Given the description of an element on the screen output the (x, y) to click on. 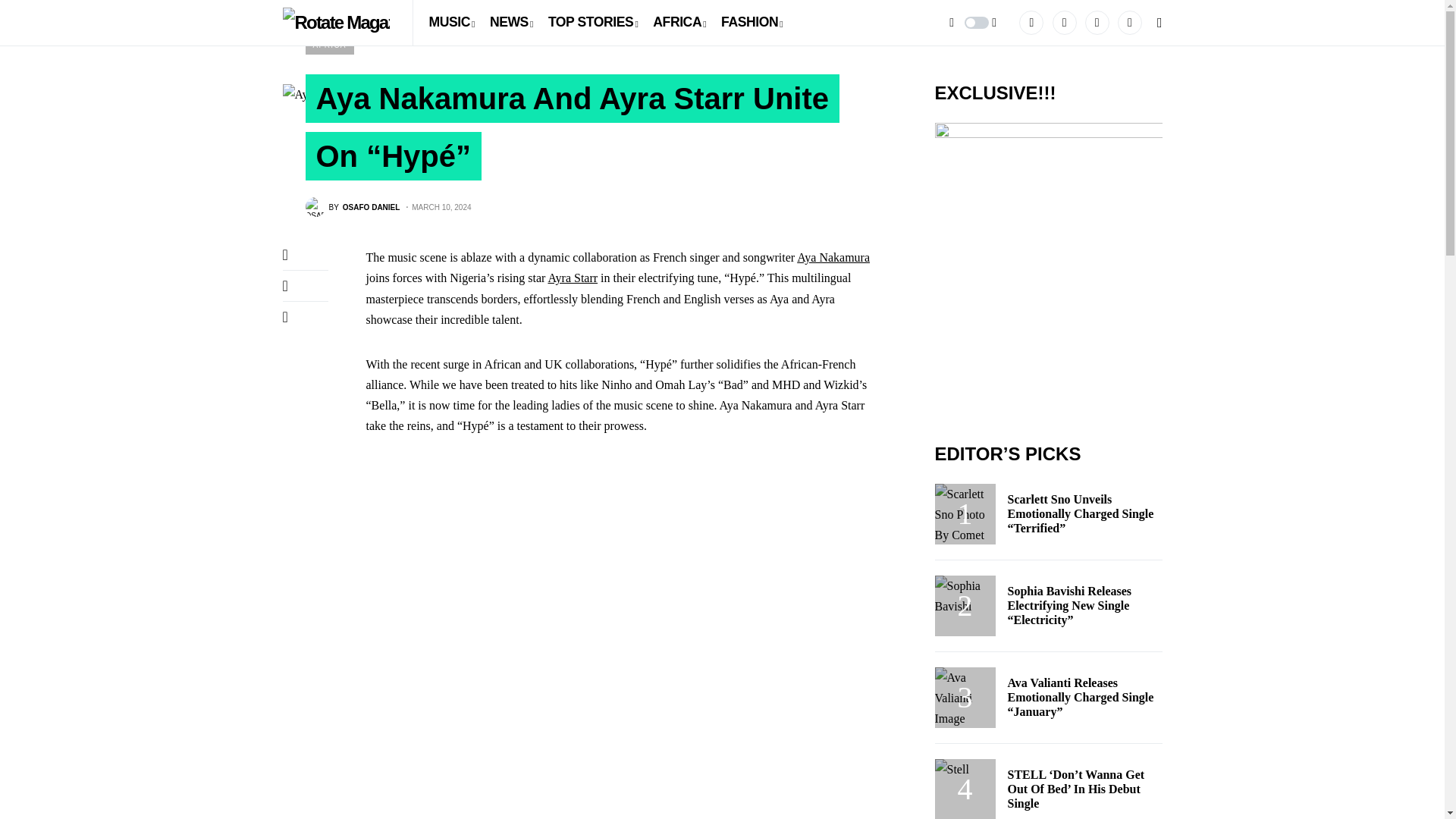
Ayra Starr (571, 277)
FASHION (751, 22)
AFRICA (328, 45)
View all posts by Osafo Daniel (351, 207)
Stell 'Don'T Wanna Get Out Of Bed' In His Debut Single (351, 207)
MUSIC (964, 789)
TOP STORIES (451, 22)
NEWS (592, 22)
EXCLUSIVE!!! (510, 22)
Aya Nakamura (1047, 264)
AFRICA (832, 256)
